Given the description of an element on the screen output the (x, y) to click on. 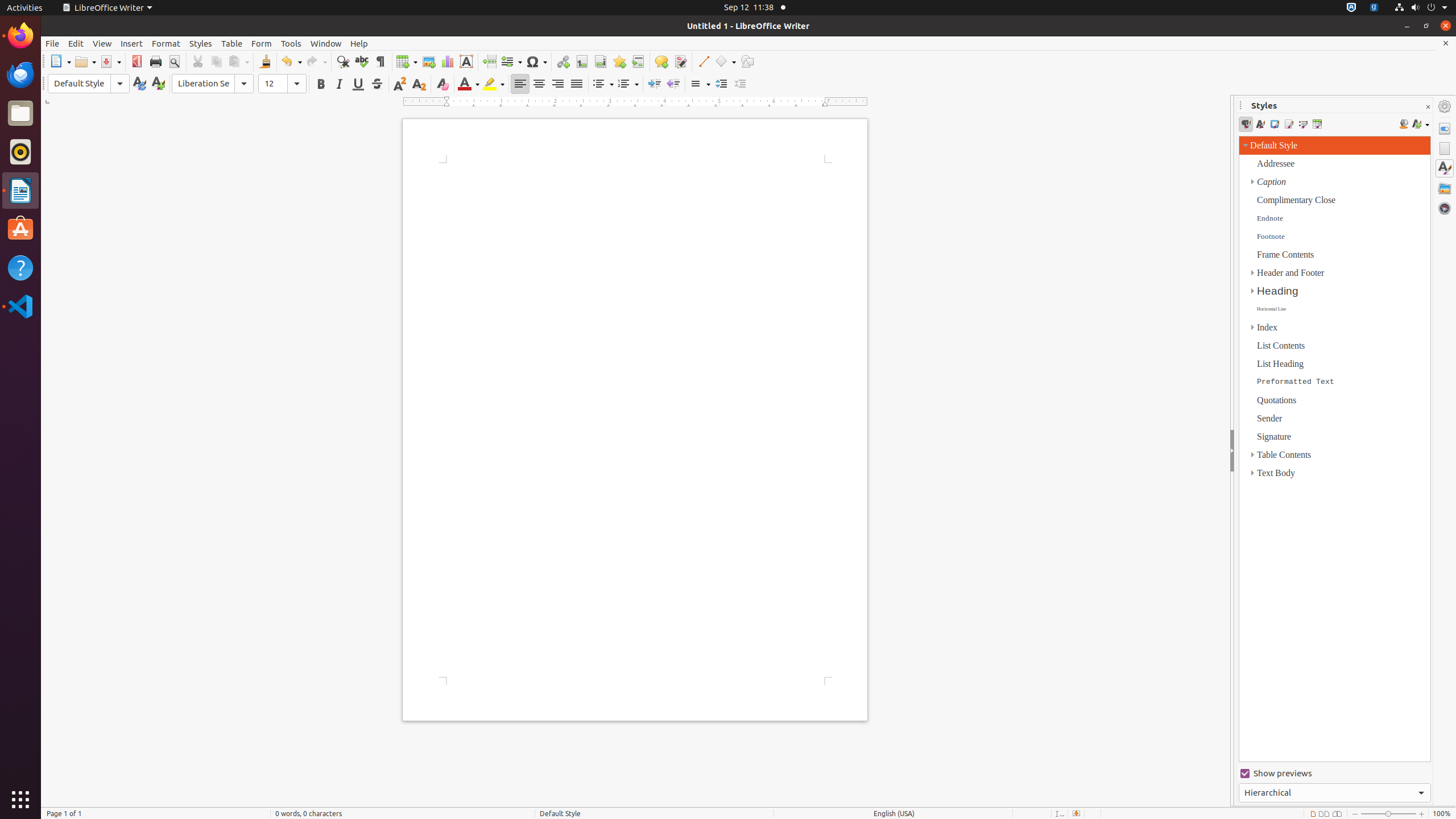
Copy Element type: push-button (216, 61)
Tools Element type: menu (290, 43)
Font Color Element type: push-button (468, 83)
Table Element type: push-button (406, 61)
Help Element type: menu (358, 43)
